Given the description of an element on the screen output the (x, y) to click on. 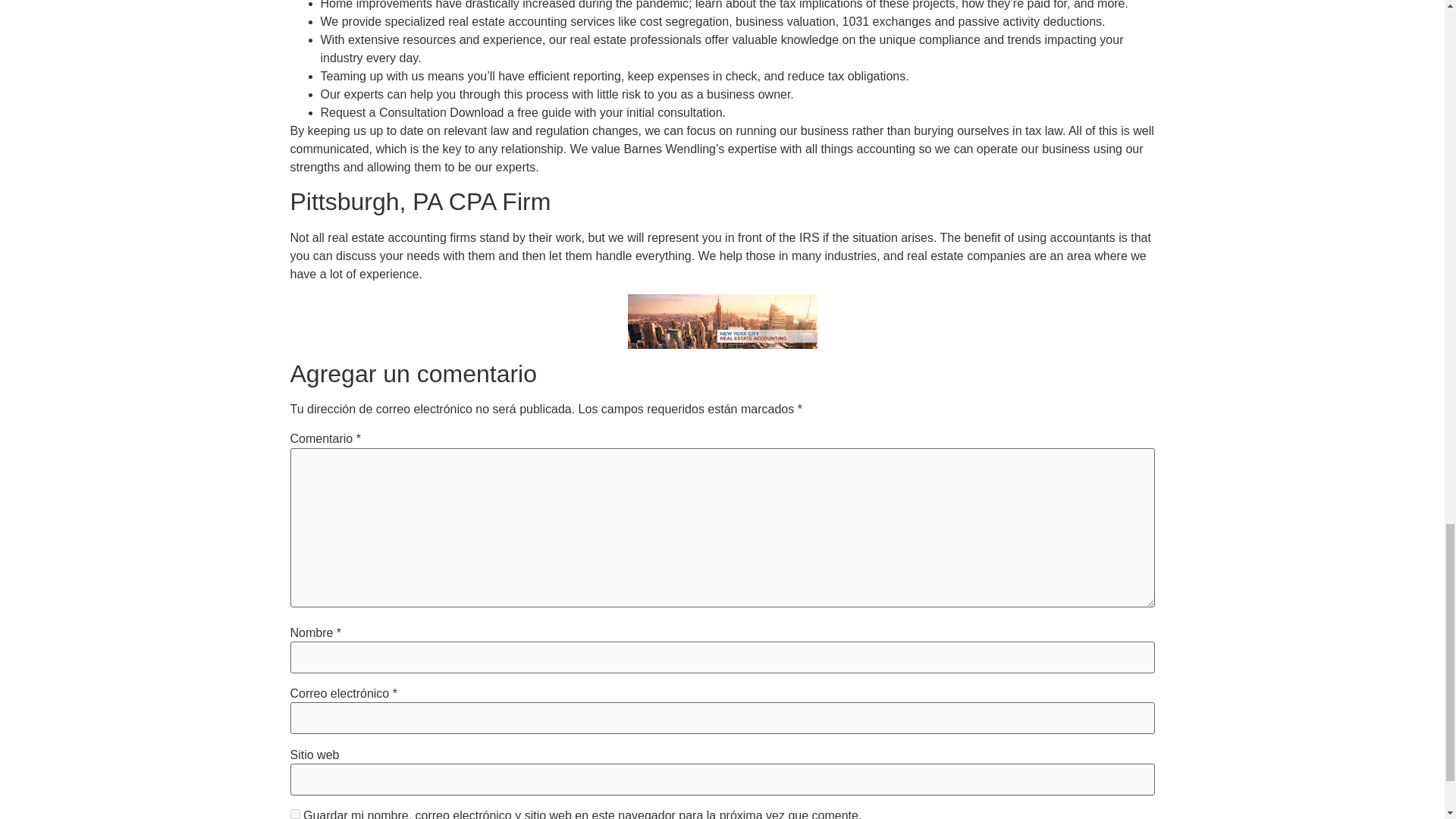
yes (294, 814)
